Given the description of an element on the screen output the (x, y) to click on. 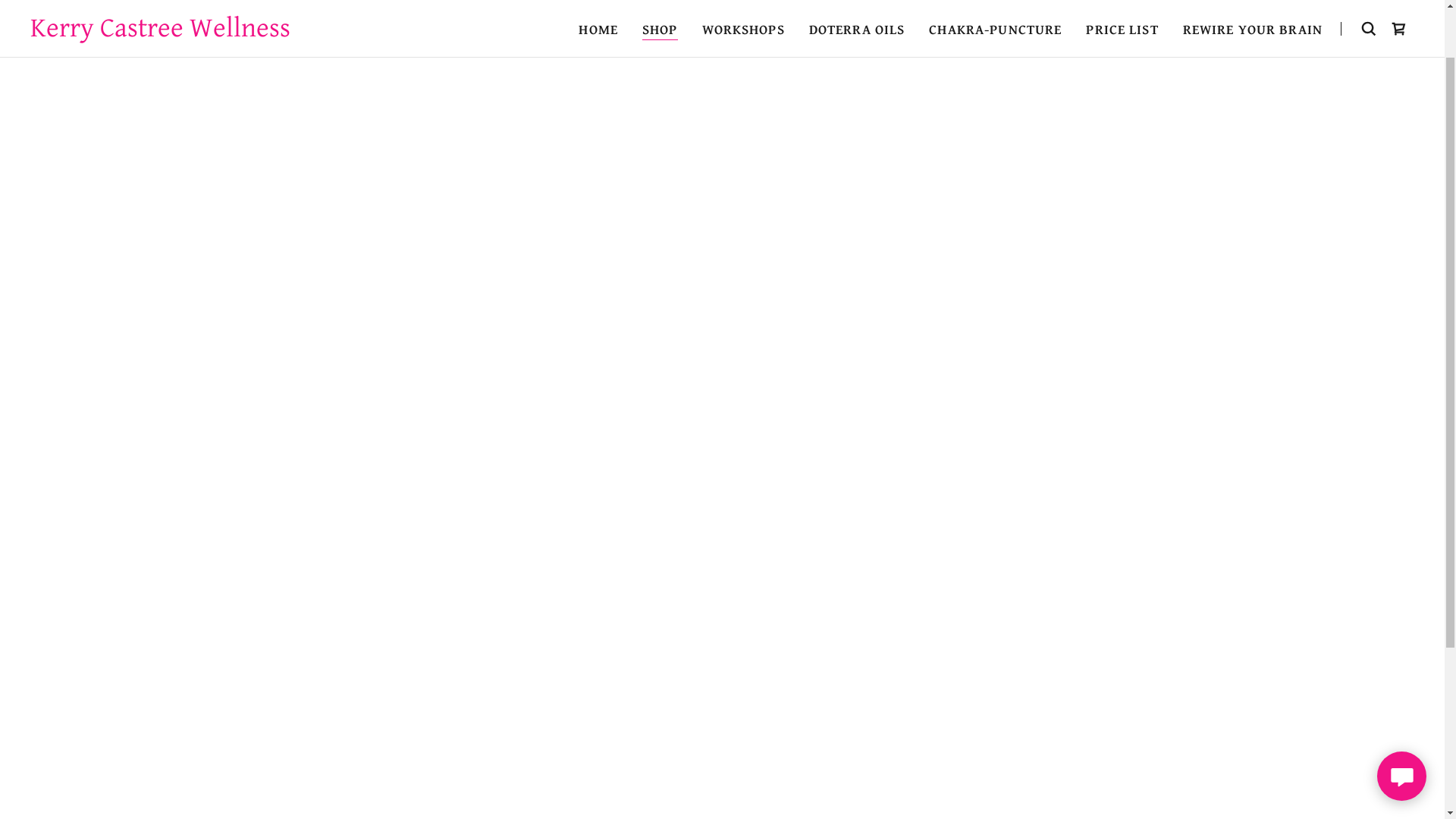
CHAKRA-PUNCTURE Element type: text (995, 95)
REWIRE YOUR BRAIN Element type: text (1252, 95)
Kerry Castree Wellness Element type: text (160, 97)
HOME Element type: text (598, 95)
SHOP Element type: text (659, 95)
PRICE LIST Element type: text (1121, 95)
DOTERRA OILS Element type: text (857, 95)
WORKSHOPS Element type: text (743, 95)
